Given the description of an element on the screen output the (x, y) to click on. 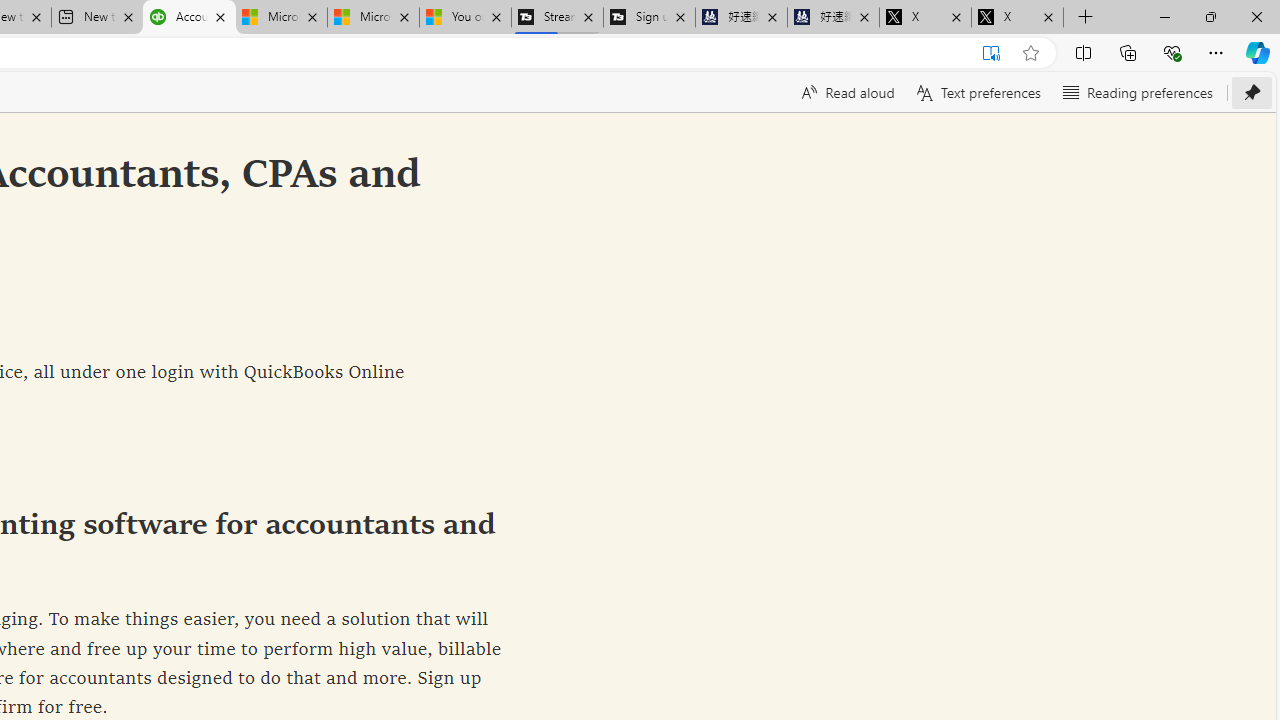
Unpin toolbar (1252, 92)
Read aloud (846, 92)
Text preferences (976, 92)
Exit Immersive Reader (F9) (991, 53)
Microsoft Start (372, 17)
Accounting Software for Accountants, CPAs and Bookkeepers (189, 17)
Microsoft Start Sports (280, 17)
